Given the description of an element on the screen output the (x, y) to click on. 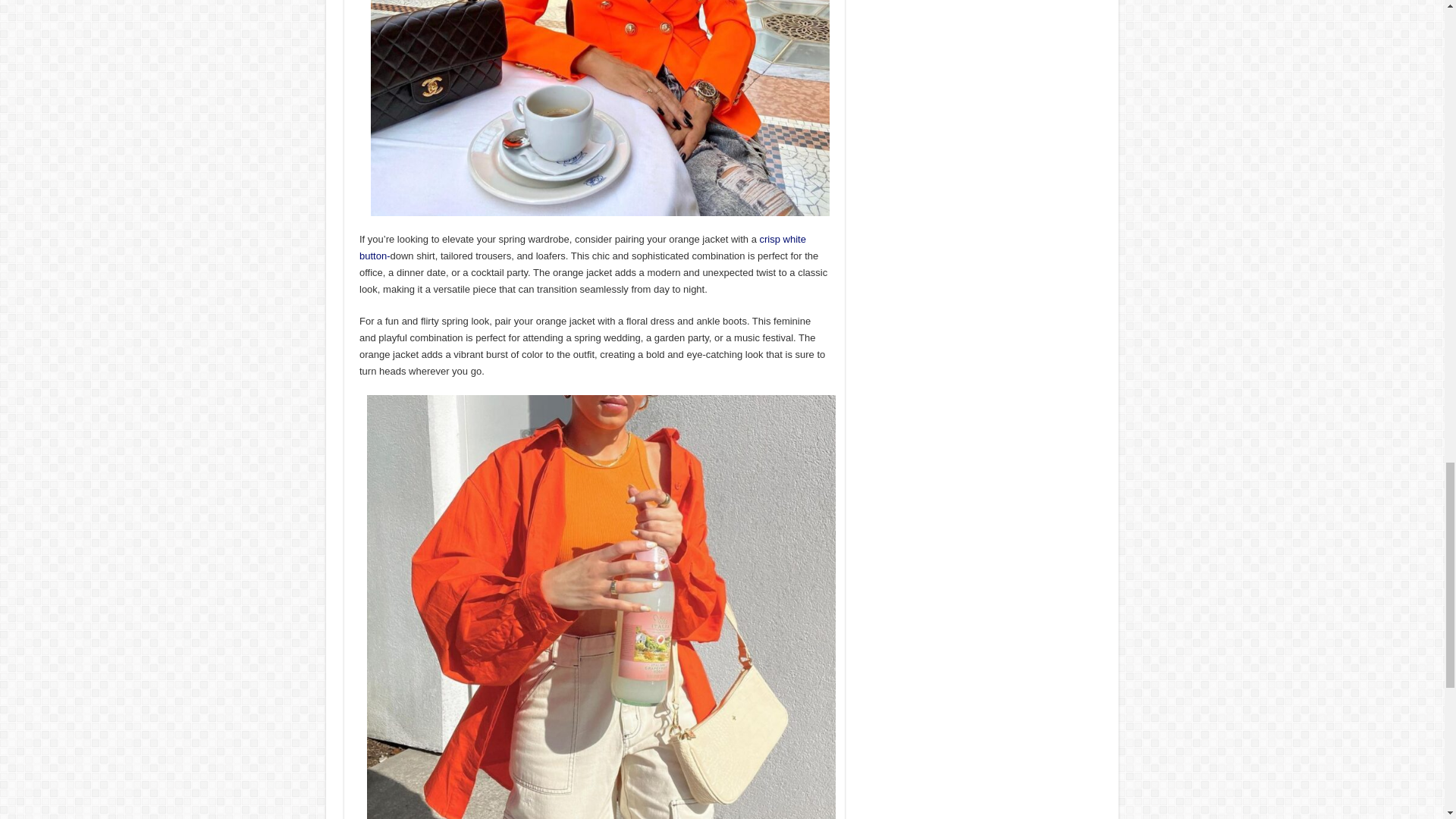
Orange Jacket Outfits to Brighten Up Your Spring Wardrobe (600, 108)
Bright and Stylish: Orange Jacket Outfits Perfect for Spring (600, 686)
crisp white button- (582, 247)
Chic Ways to Wear a Black Skirt for Effortless Style (582, 247)
